Given the description of an element on the screen output the (x, y) to click on. 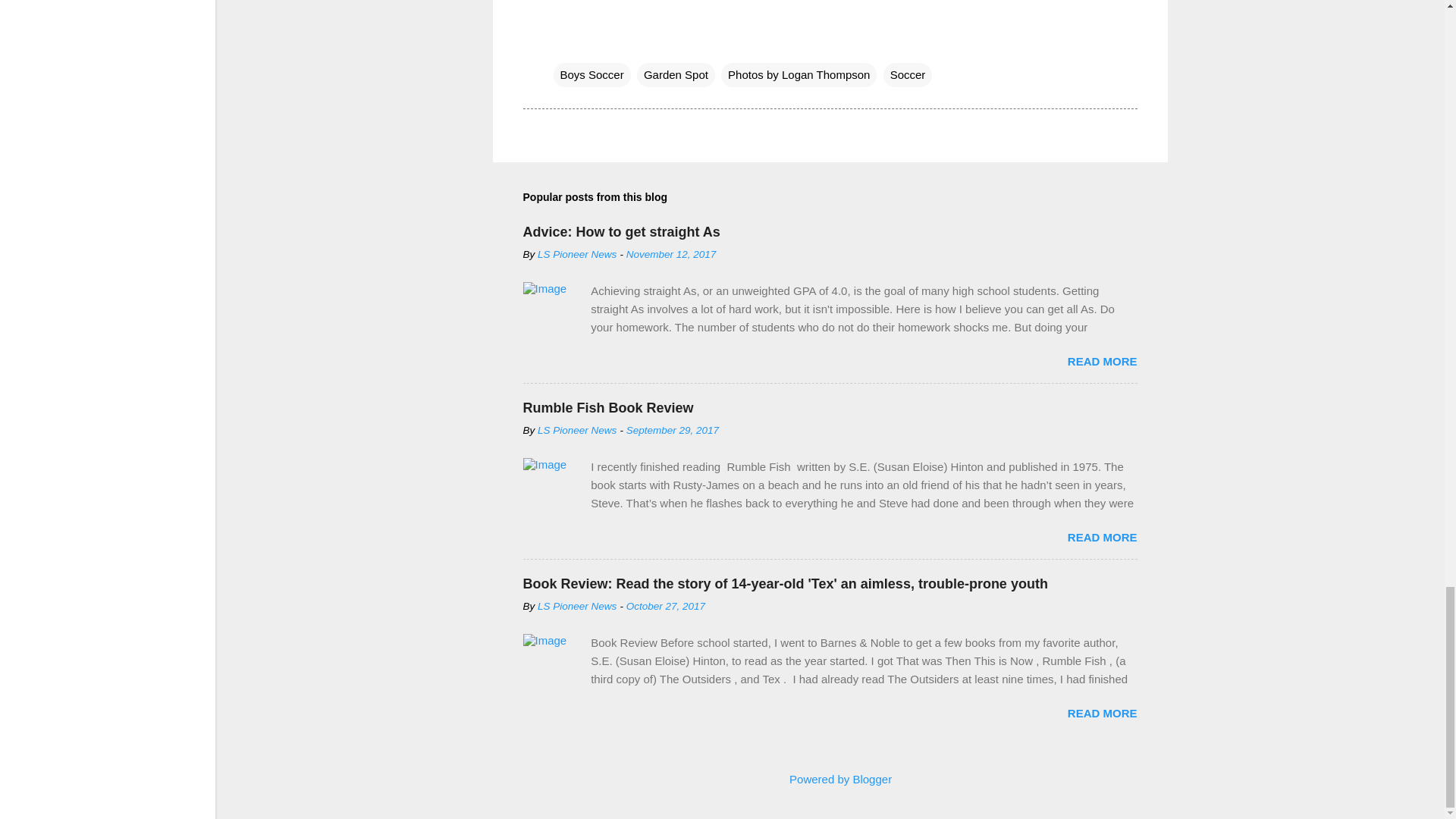
Email Post (562, 43)
READ MORE (1102, 712)
Advice: How to get straight As (621, 231)
READ MORE (1102, 360)
READ MORE (1102, 536)
Photos by Logan Thompson (798, 74)
October 27, 2017 (665, 605)
Boys Soccer (591, 74)
LS Pioneer News (576, 605)
LS Pioneer News (576, 430)
